Given the description of an element on the screen output the (x, y) to click on. 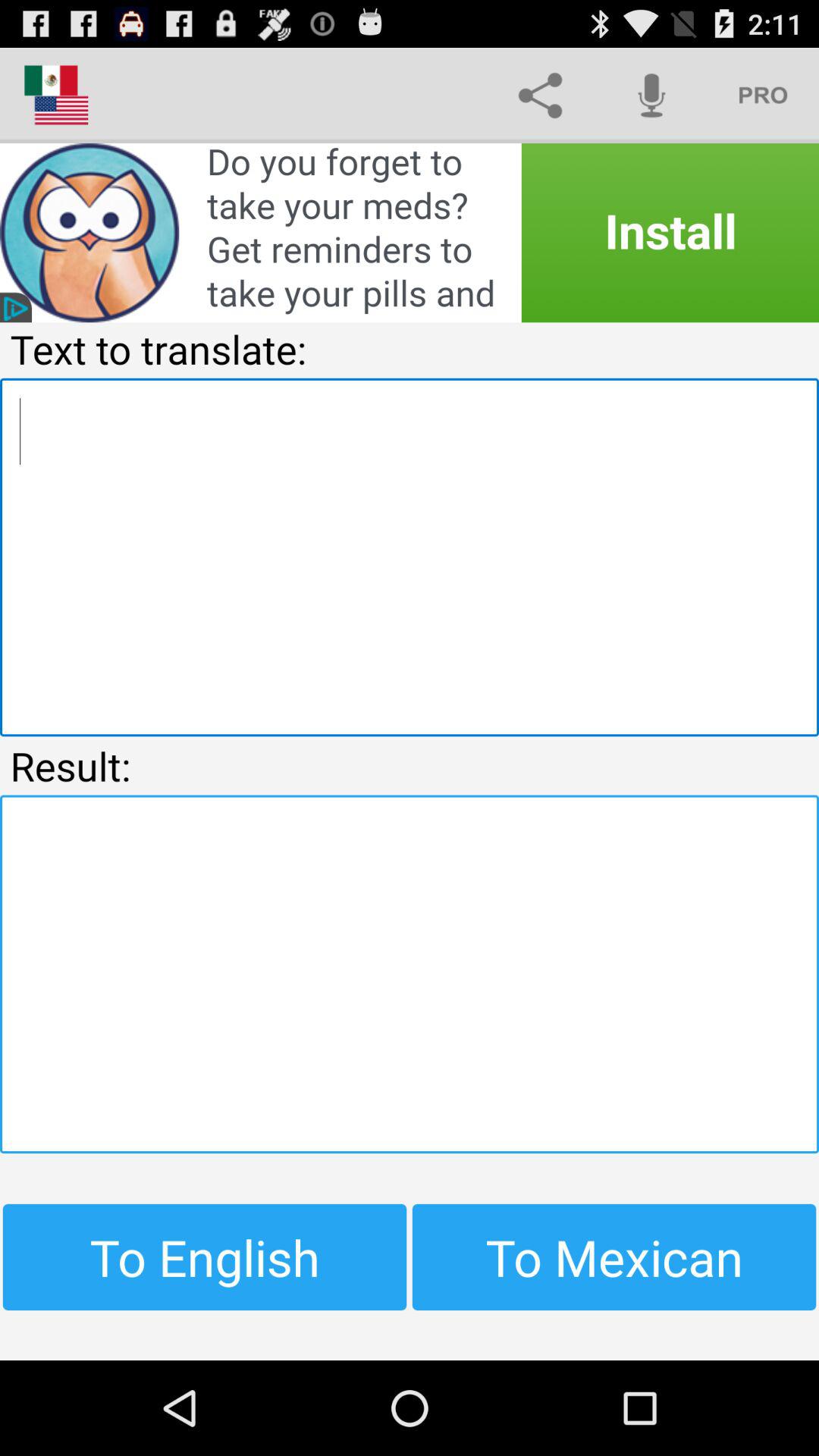
press to mexican item (614, 1257)
